Given the description of an element on the screen output the (x, y) to click on. 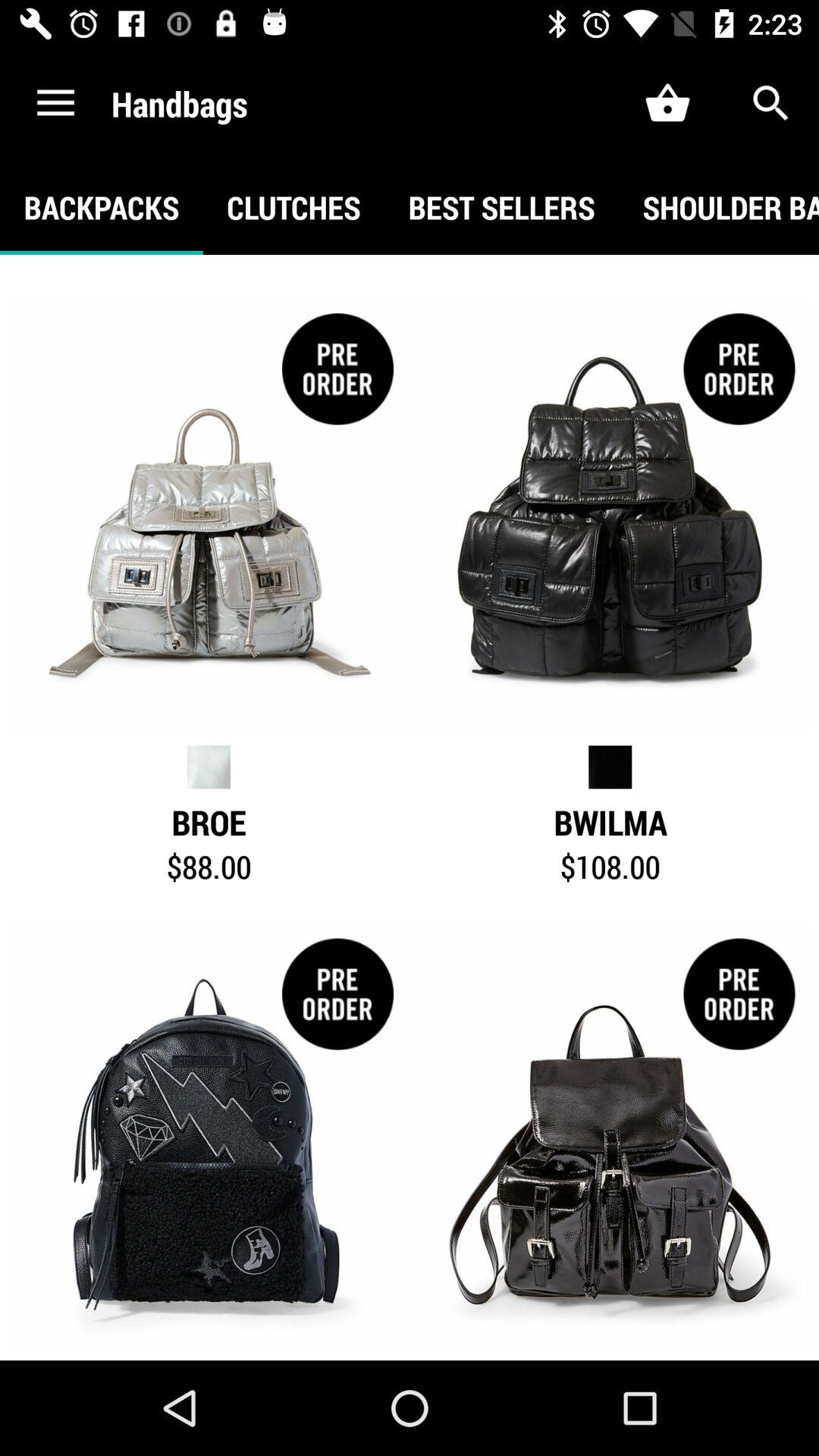
choose the icon to the left of the handbags (55, 103)
